Given the description of an element on the screen output the (x, y) to click on. 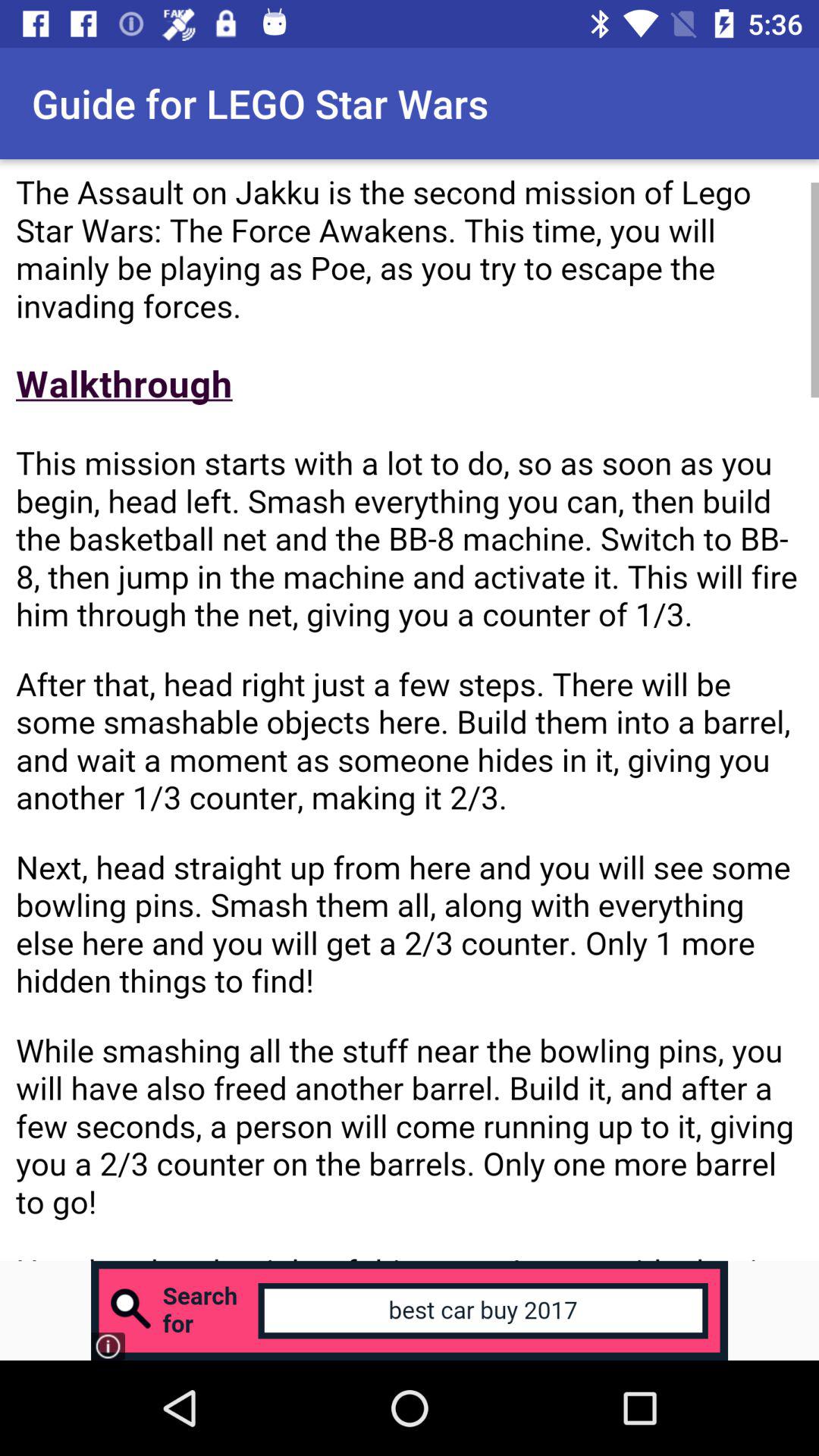
open advertisement (409, 1310)
